Given the description of an element on the screen output the (x, y) to click on. 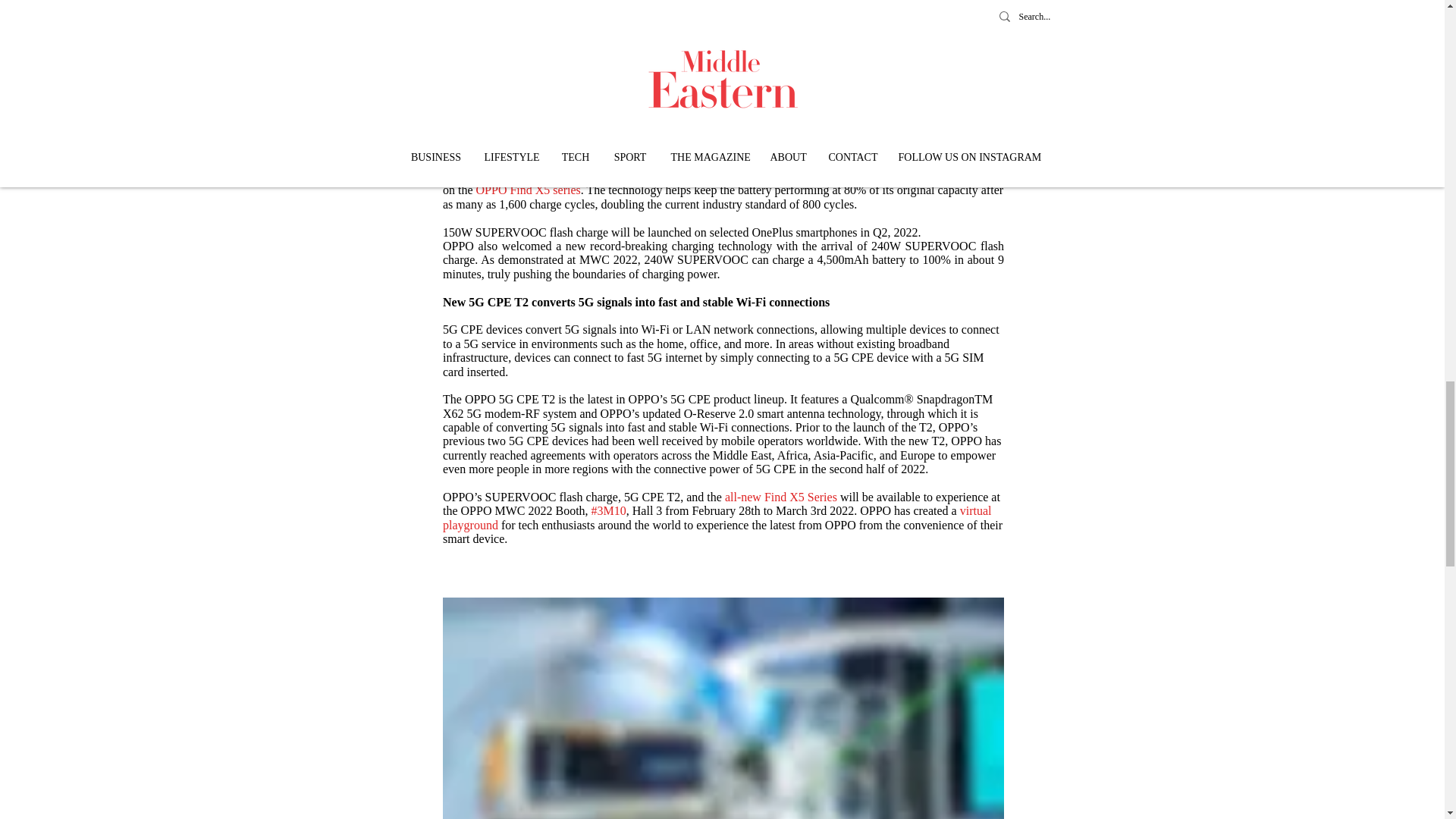
virtual playground (718, 517)
all-new Find X5 Series (779, 496)
OPPO Find X5 series (527, 189)
